Given the description of an element on the screen output the (x, y) to click on. 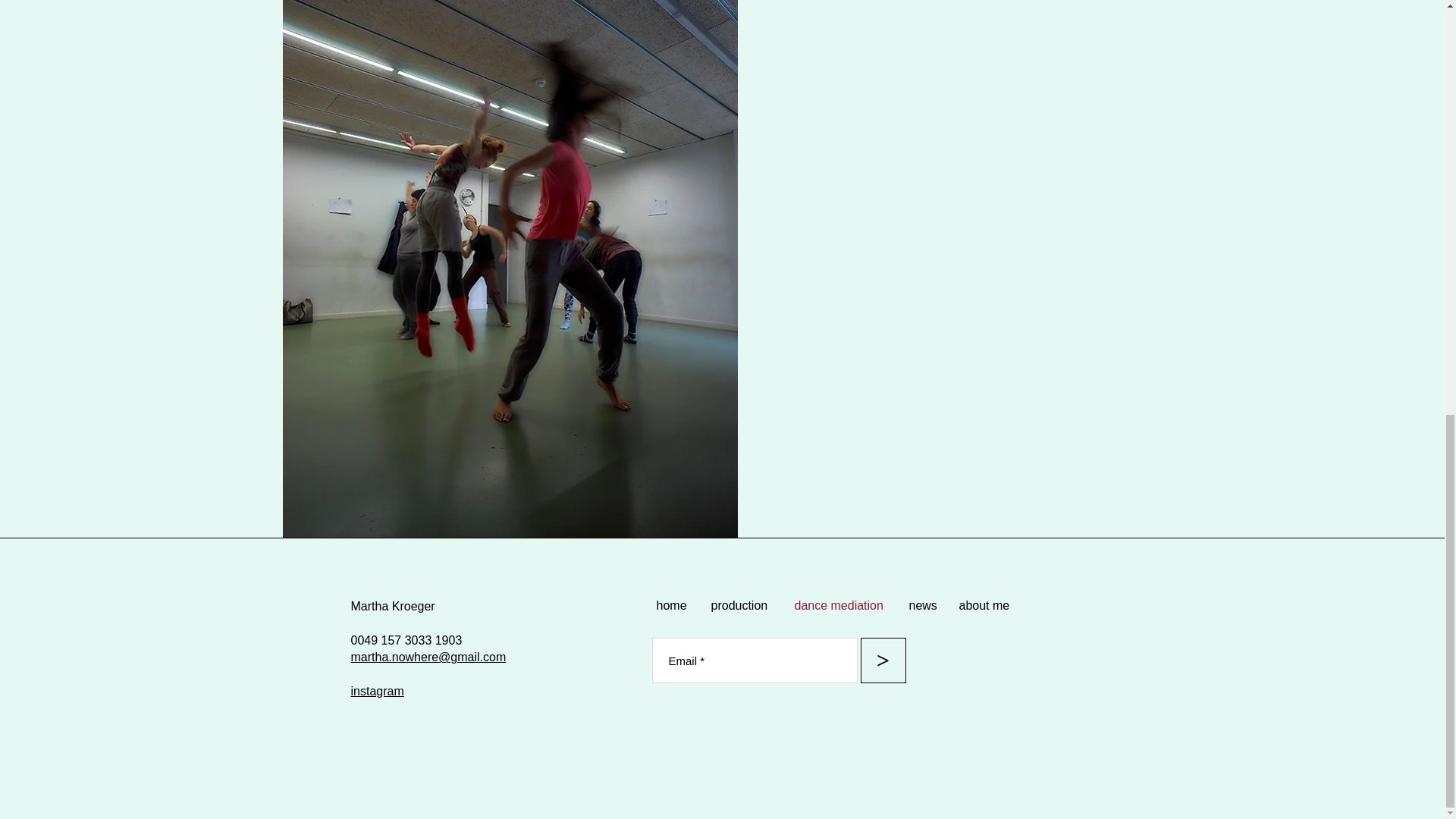
production (740, 605)
instagram (376, 690)
home (671, 605)
dance mediation (839, 605)
